Given the description of an element on the screen output the (x, y) to click on. 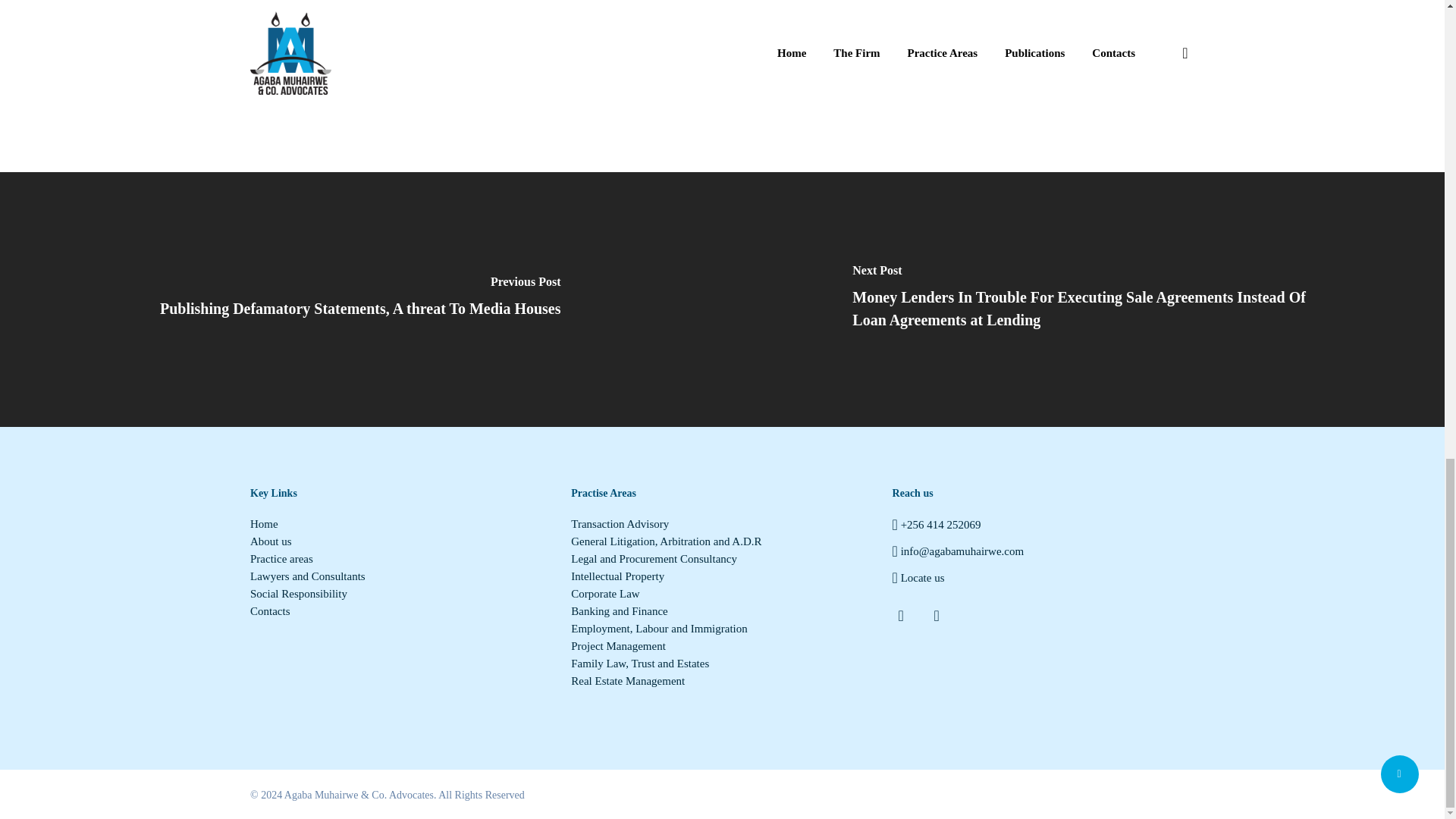
Home (400, 523)
About us (400, 541)
